Given the description of an element on the screen output the (x, y) to click on. 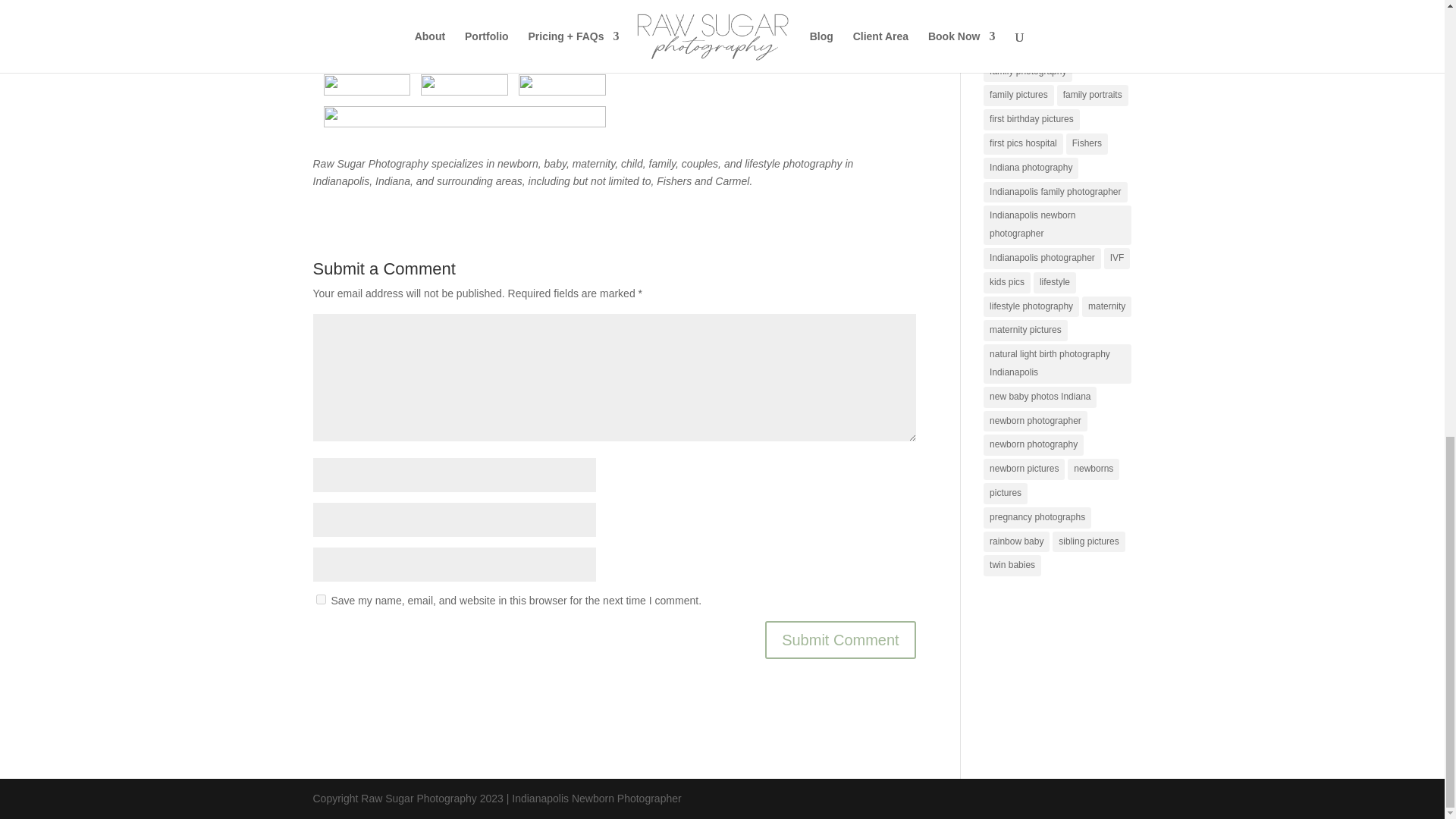
Submit Comment (840, 639)
yes (319, 599)
Submit Comment (840, 639)
